Given the description of an element on the screen output the (x, y) to click on. 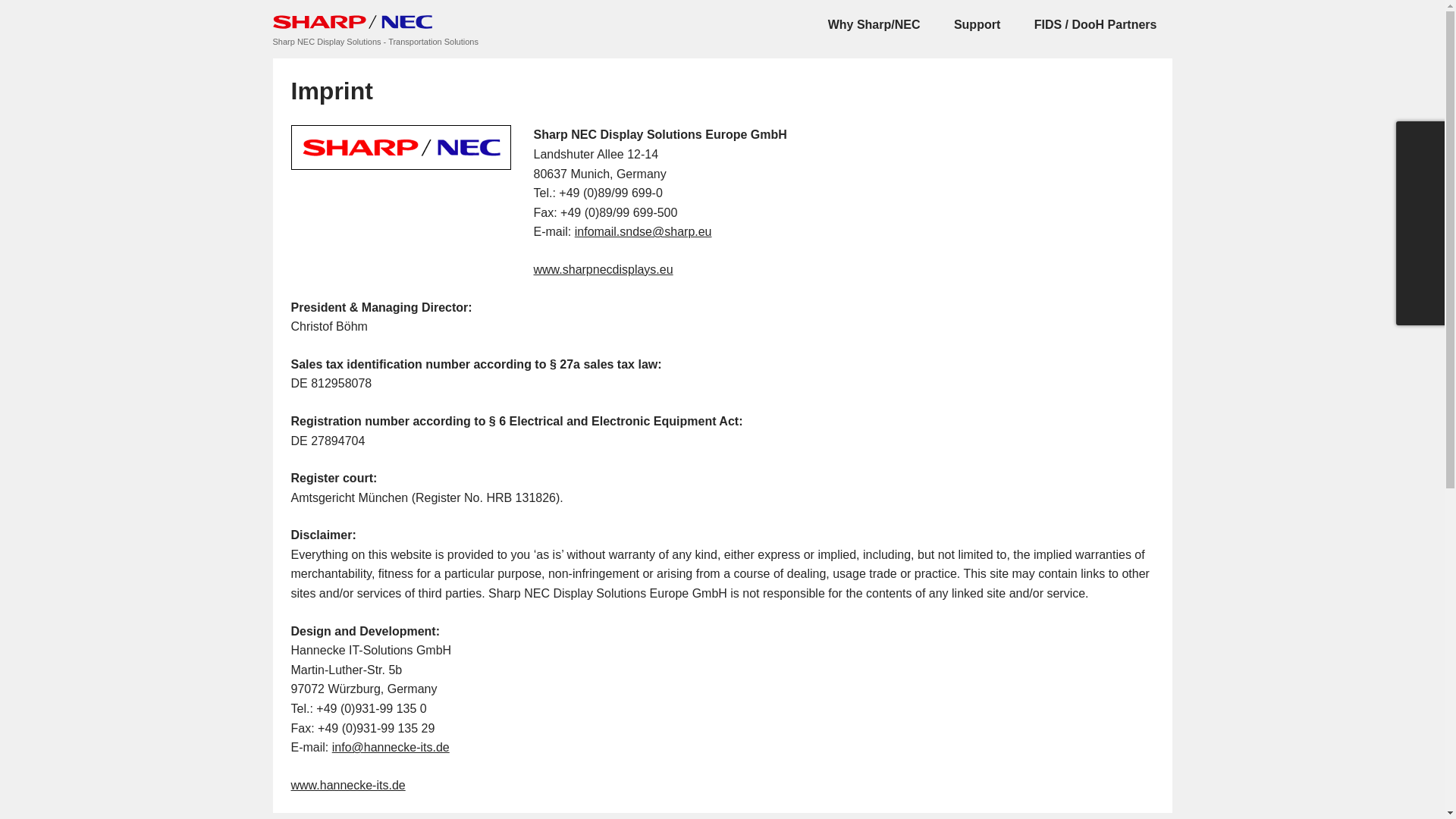
www.hannecke-its.de (348, 784)
Support (976, 24)
Home (352, 21)
www.sharpnecdisplays.eu (603, 269)
